Given the description of an element on the screen output the (x, y) to click on. 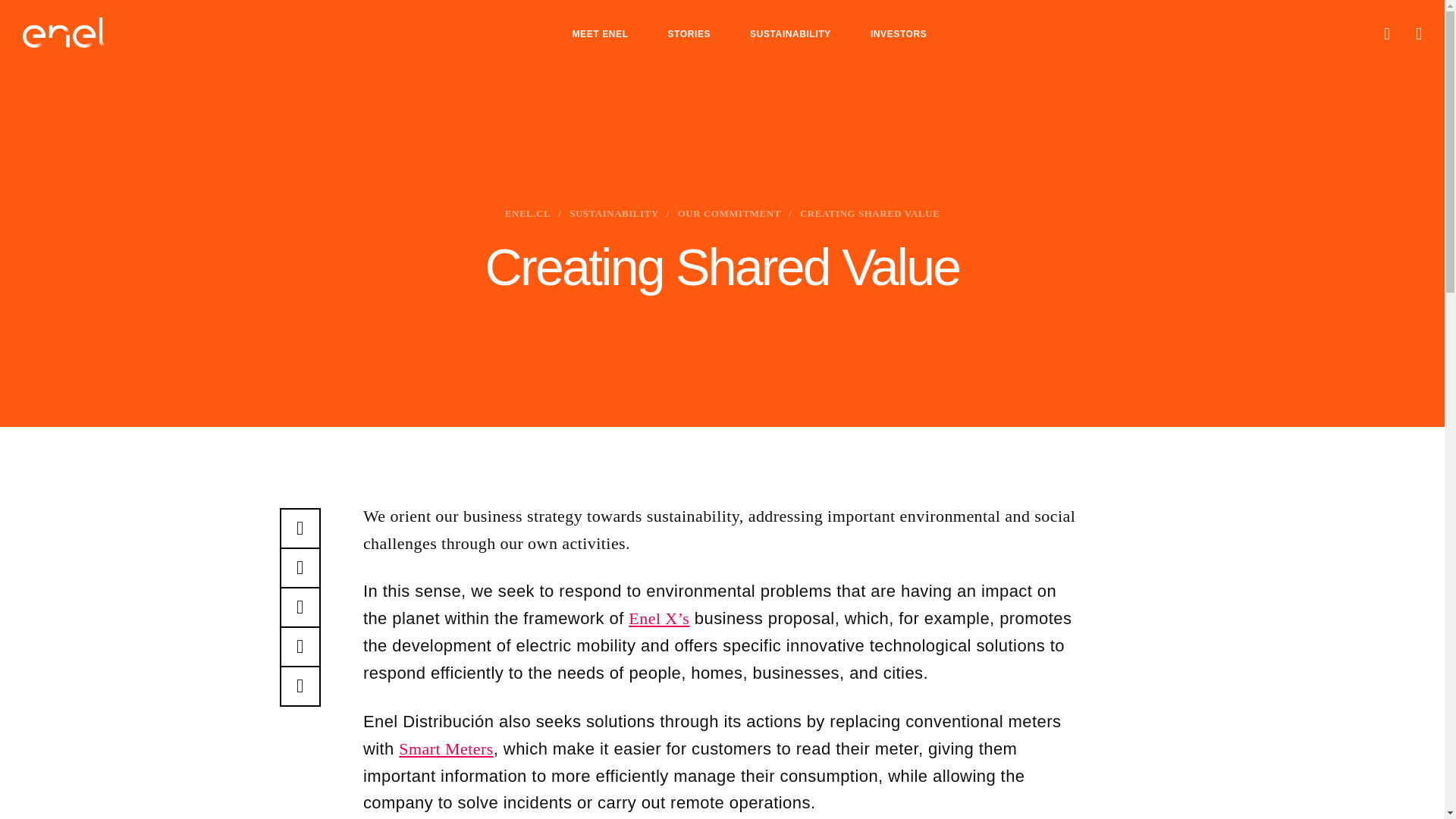
SUSTAINABILITY (790, 33)
Ir a la pagina Our Commitment. (729, 213)
Ir a la pagina enel.cl. (527, 213)
INVESTORS (899, 33)
STORIES (688, 33)
Ir a la pagina Sustainability. (614, 213)
Ir al inicio del sitio. (63, 32)
MEET ENEL (599, 33)
